Given the description of an element on the screen output the (x, y) to click on. 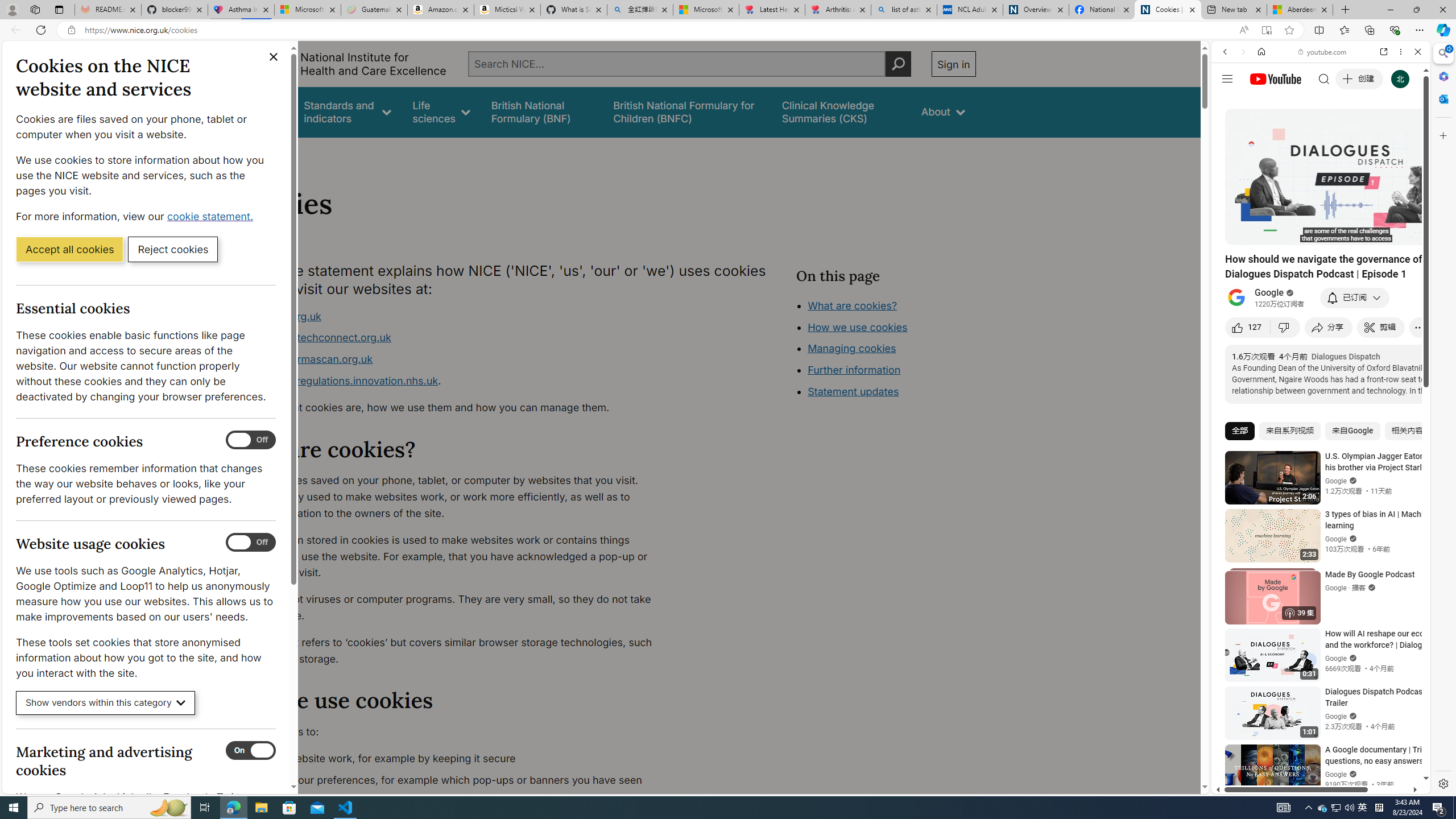
cookie statement. (Opens in a new window) (211, 215)
Managing cookies (852, 348)
What are cookies? (852, 305)
www.digitalregulations.innovation.nhs.uk (338, 380)
www.healthtechconnect.org.uk (314, 337)
Perform search (898, 63)
